Given the description of an element on the screen output the (x, y) to click on. 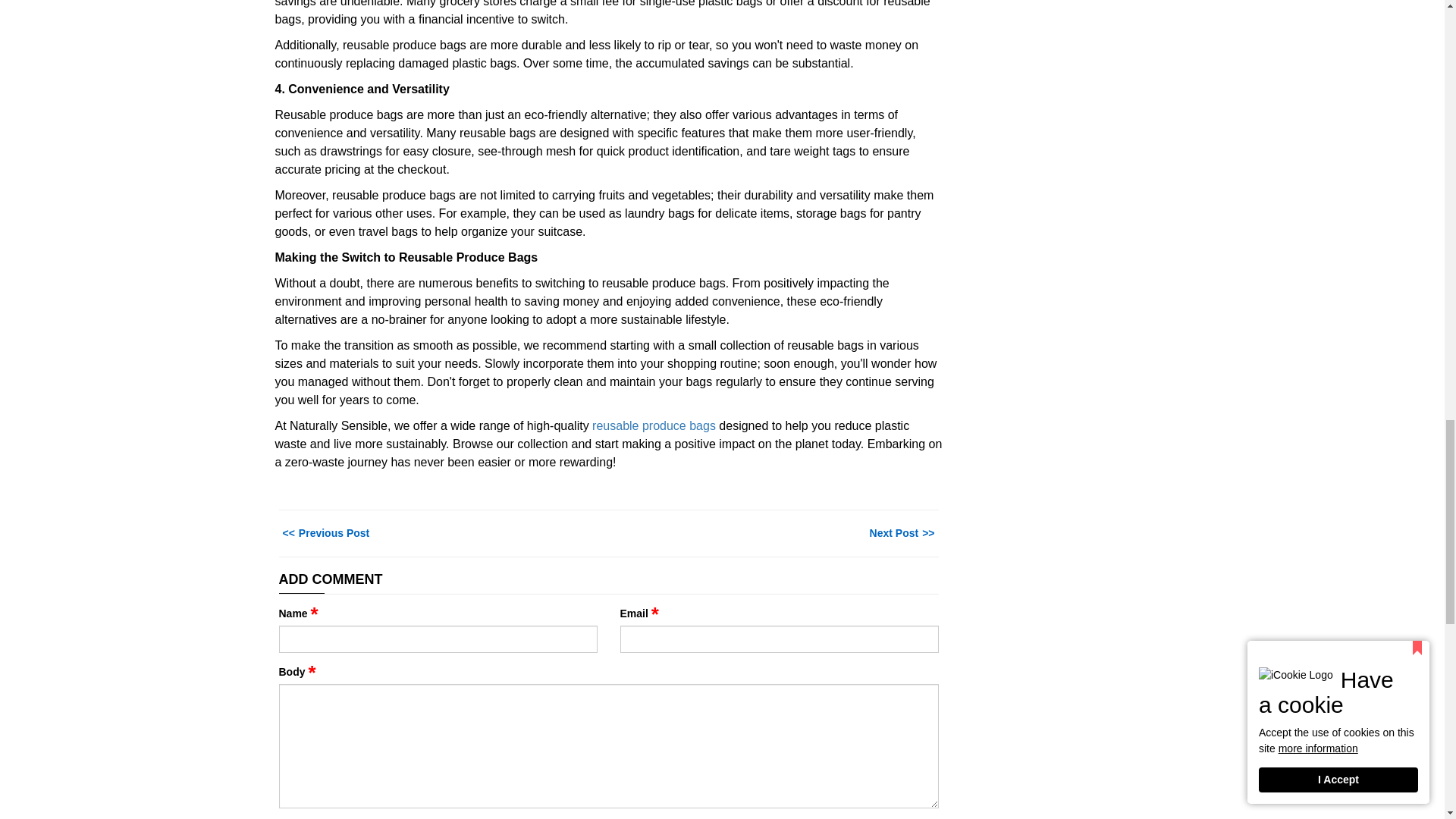
reusable produce bags (654, 424)
Previous Post (324, 532)
Next Post (904, 532)
